Given the description of an element on the screen output the (x, y) to click on. 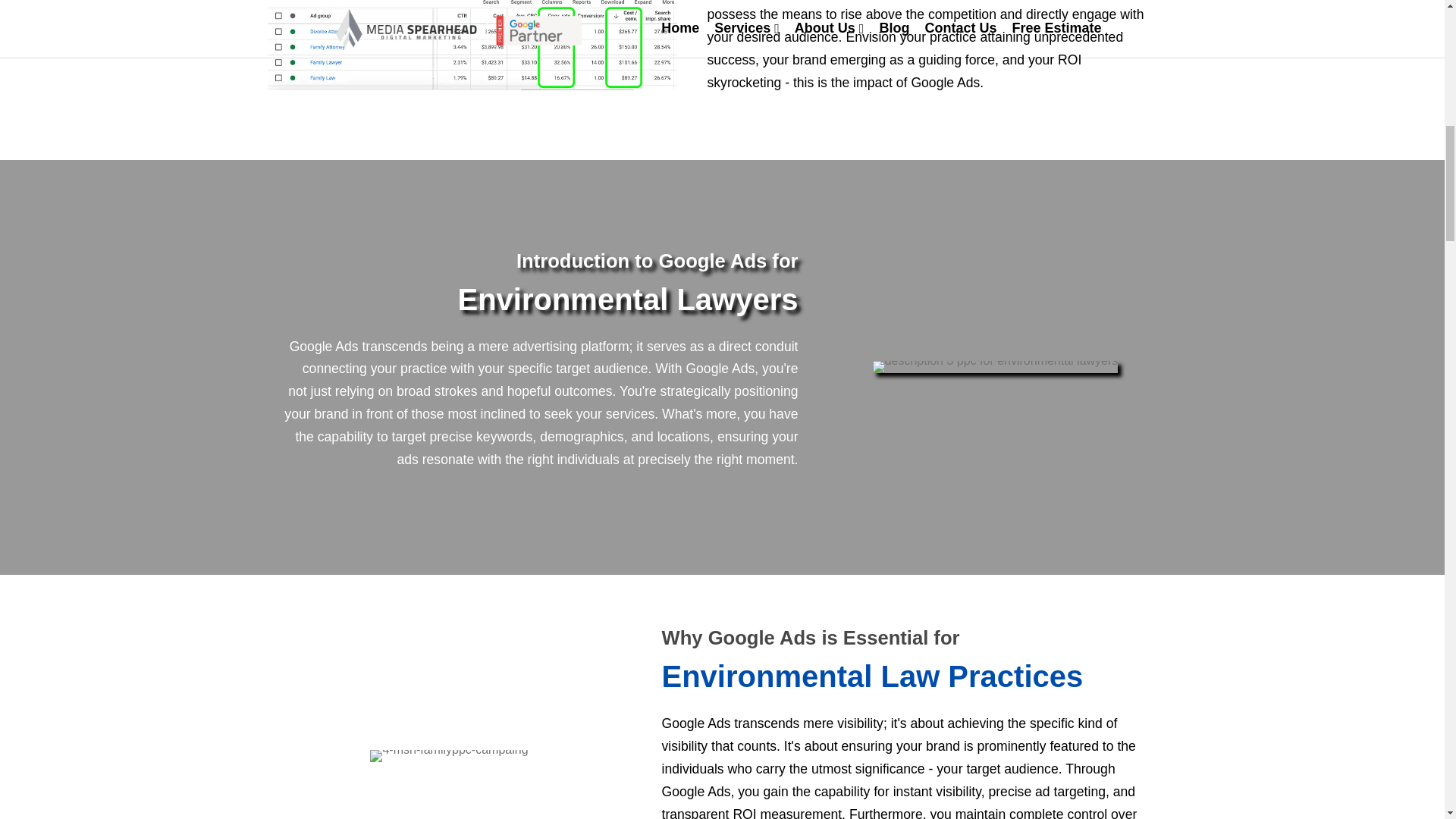
4-msh-familyppc-campaing (448, 756)
1-msh-familyppc-campaing (471, 45)
description-3-ppc-for-environmental-lawyers (995, 367)
